Given the description of an element on the screen output the (x, y) to click on. 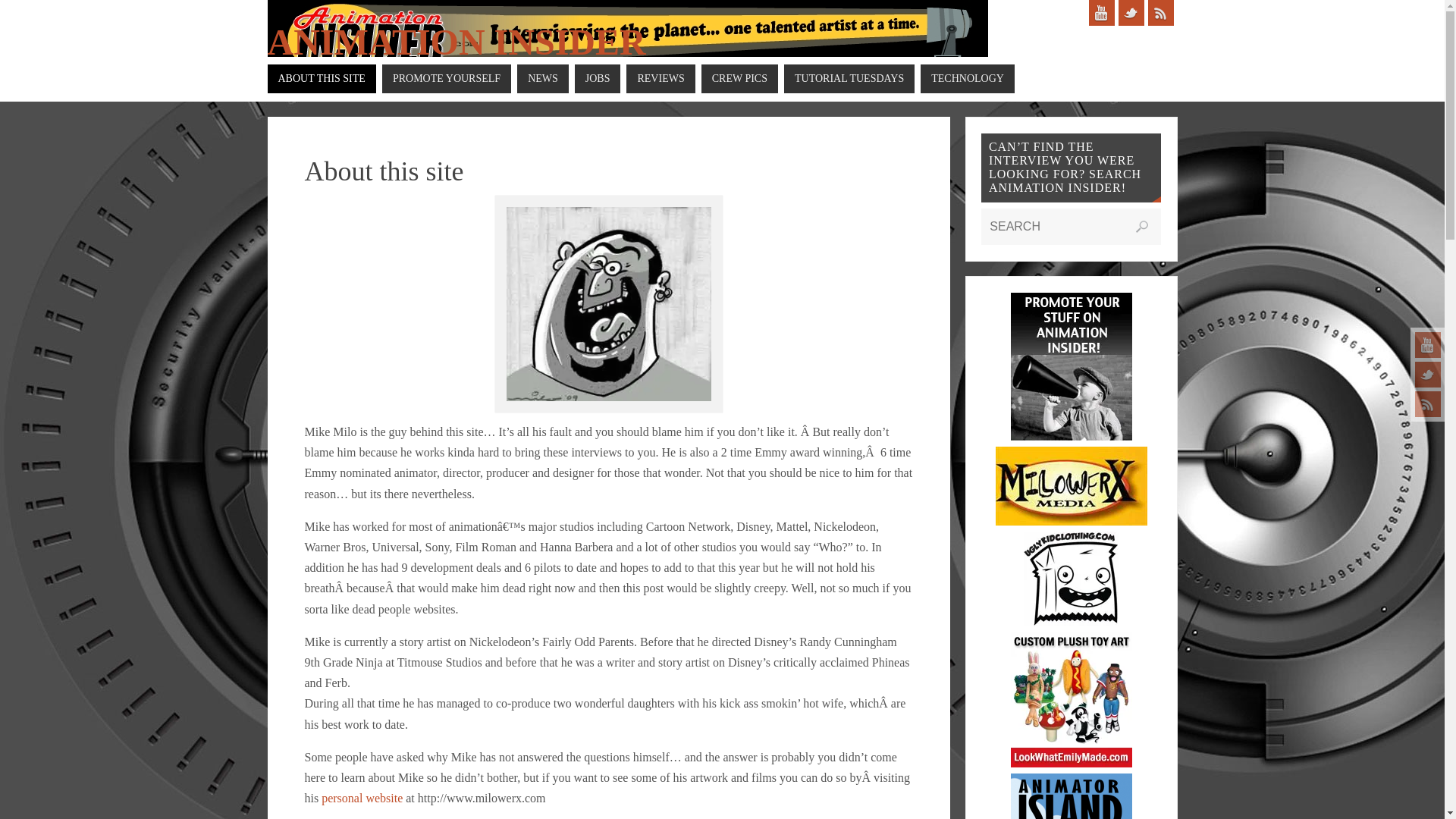
TECHNOLOGY (967, 78)
YouTube (1102, 12)
personal website (362, 797)
CREW PICS (739, 78)
PROMOTE YOURSELF (446, 78)
RSS (1428, 403)
YouTube (1428, 344)
ABOUT THIS SITE (320, 78)
NEWS (542, 78)
JOBS (598, 78)
